Given the description of an element on the screen output the (x, y) to click on. 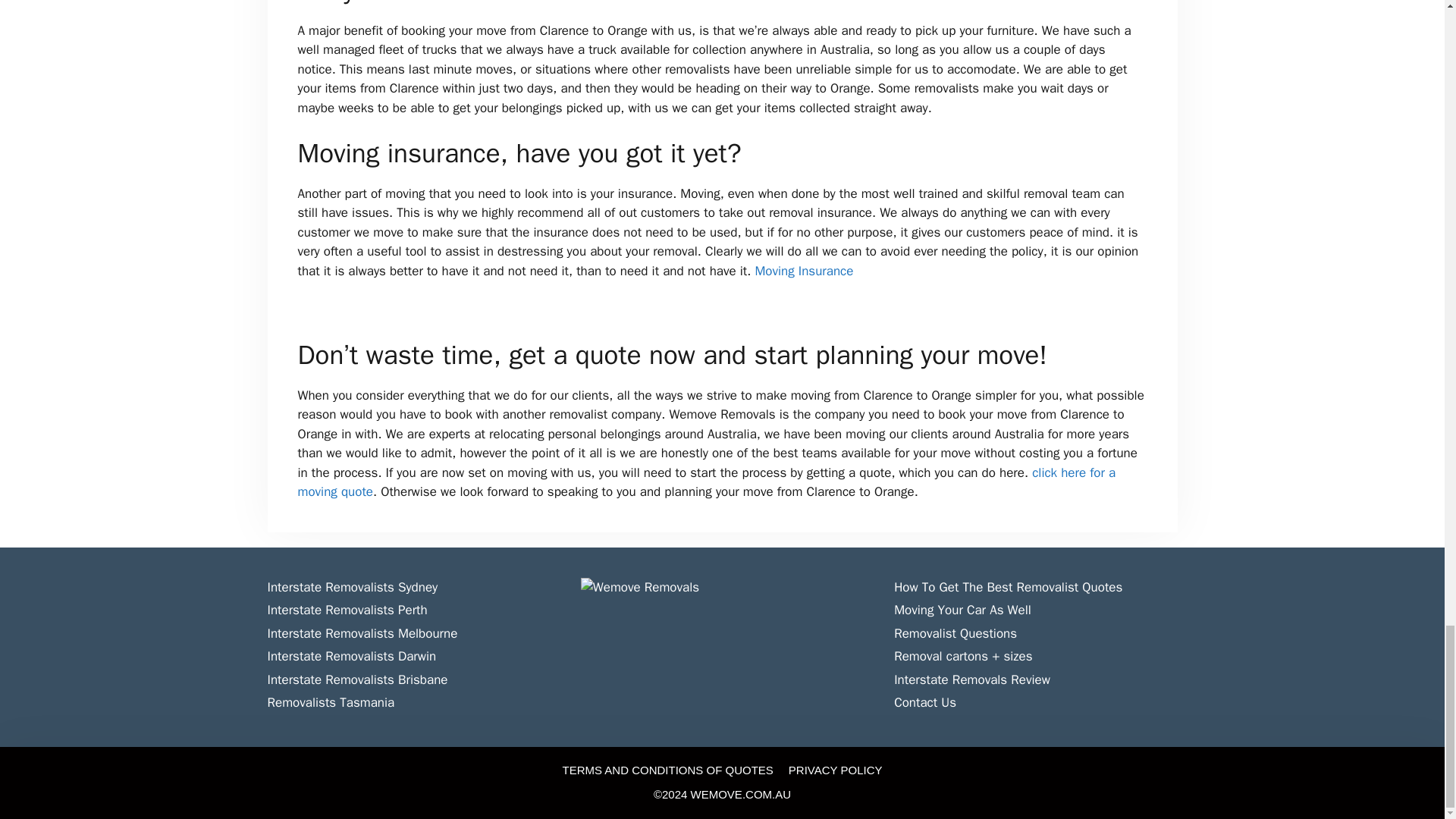
Interstate Removalists Brisbane (356, 679)
Interstate Removals Review (971, 679)
How To Get The Best Removalist Quotes (1007, 587)
Removalists Tasmania (330, 702)
PRIVACY POLICY (835, 769)
click here for a moving quote (706, 482)
TERMS AND CONDITIONS OF QUOTES (667, 769)
Removalist Questions (954, 633)
Interstate Removalists Sydney (352, 587)
Interstate Removalists Perth (346, 609)
